Given the description of an element on the screen output the (x, y) to click on. 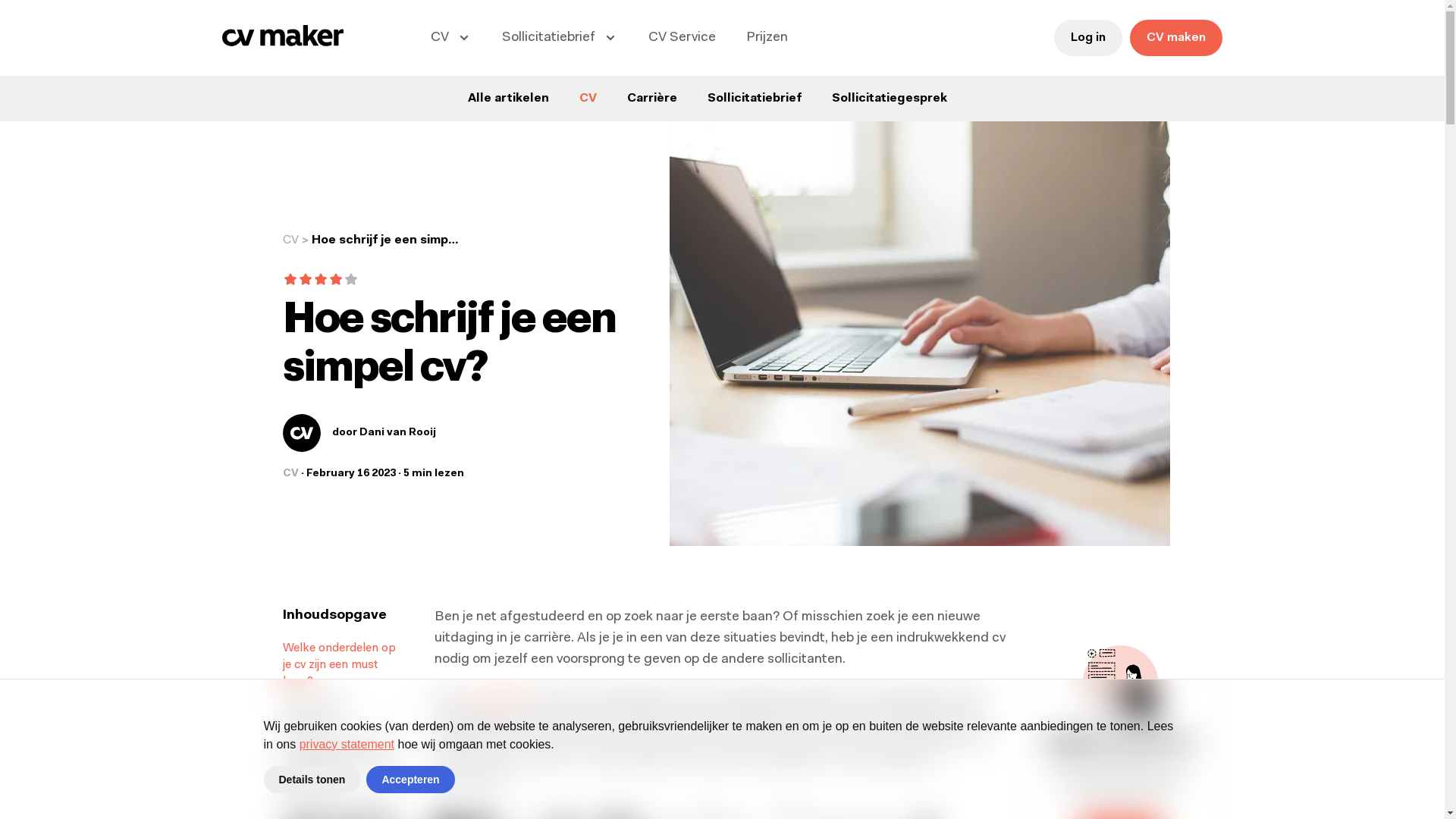
Alle artikelen Element type: text (507, 98)
Details tonen Element type: text (311, 779)
Accepteren Element type: text (410, 779)
privacy statement Element type: text (346, 743)
Prijzen Element type: text (766, 37)
DropDown Element type: text (395, 713)
Sollicitatiegesprek Element type: text (888, 98)
CV Element type: text (290, 240)
Sollicitatiebrief Element type: text (753, 98)
cv schrijven Element type: text (496, 695)
Log in Element type: text (1088, 37)
Welke onderdelen kan je weggelaten op een simpel cv? Element type: text (342, 763)
CV maken Element type: text (1175, 37)
CV Service Element type: text (681, 37)
CVMakerLogo Element type: text (281, 43)
Welke onderdelen op je cv zijn een must have? Element type: text (340, 664)
CV Element type: text (587, 98)
Persoonlijke gegevens Element type: text (316, 713)
